Given the description of an element on the screen output the (x, y) to click on. 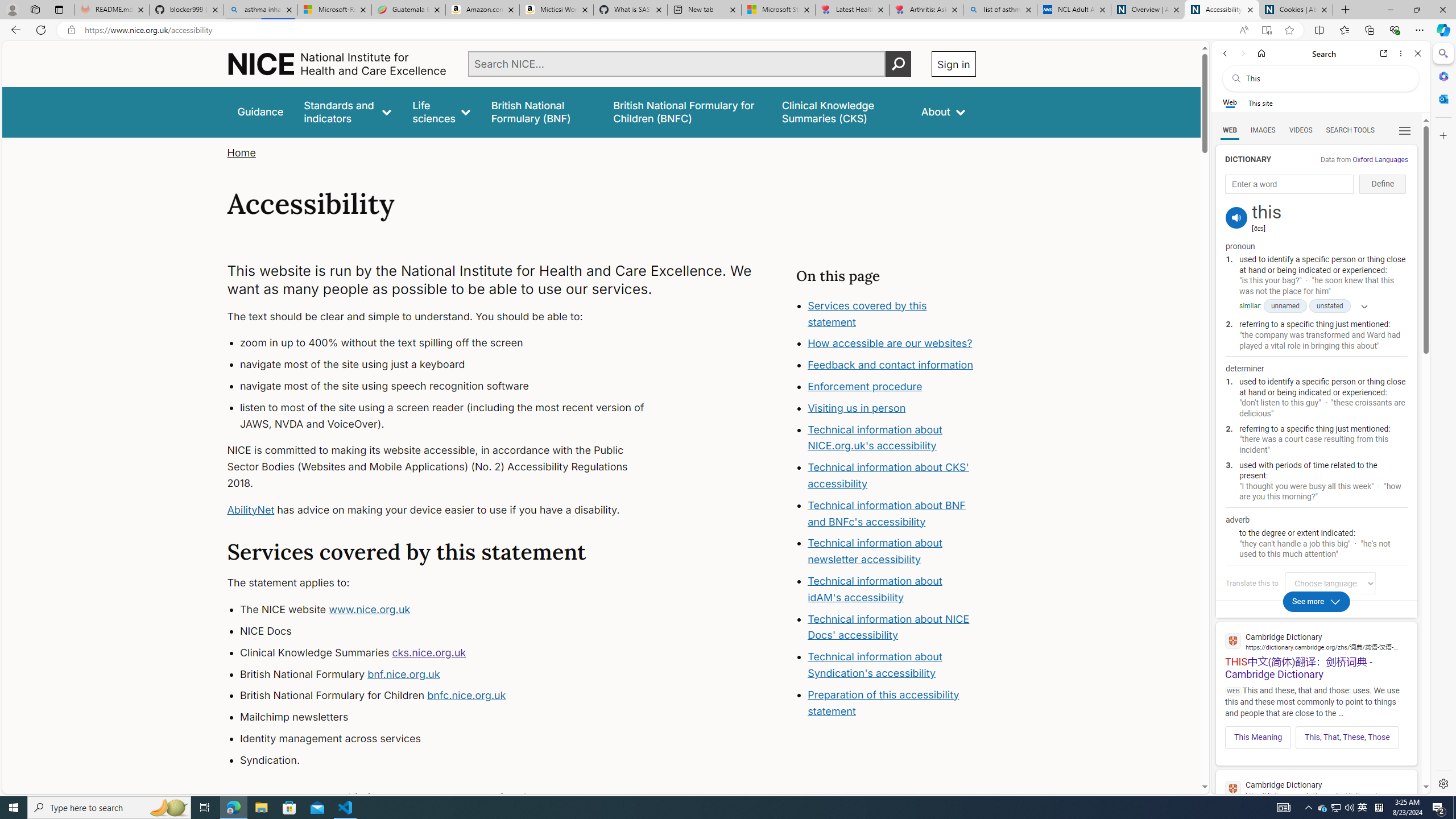
zoom in up to 400% without the text spilling off the screen (452, 343)
Technical information about NICE.org.uk's accessibility (875, 437)
This, That, These, Those (1347, 737)
